Given the description of an element on the screen output the (x, y) to click on. 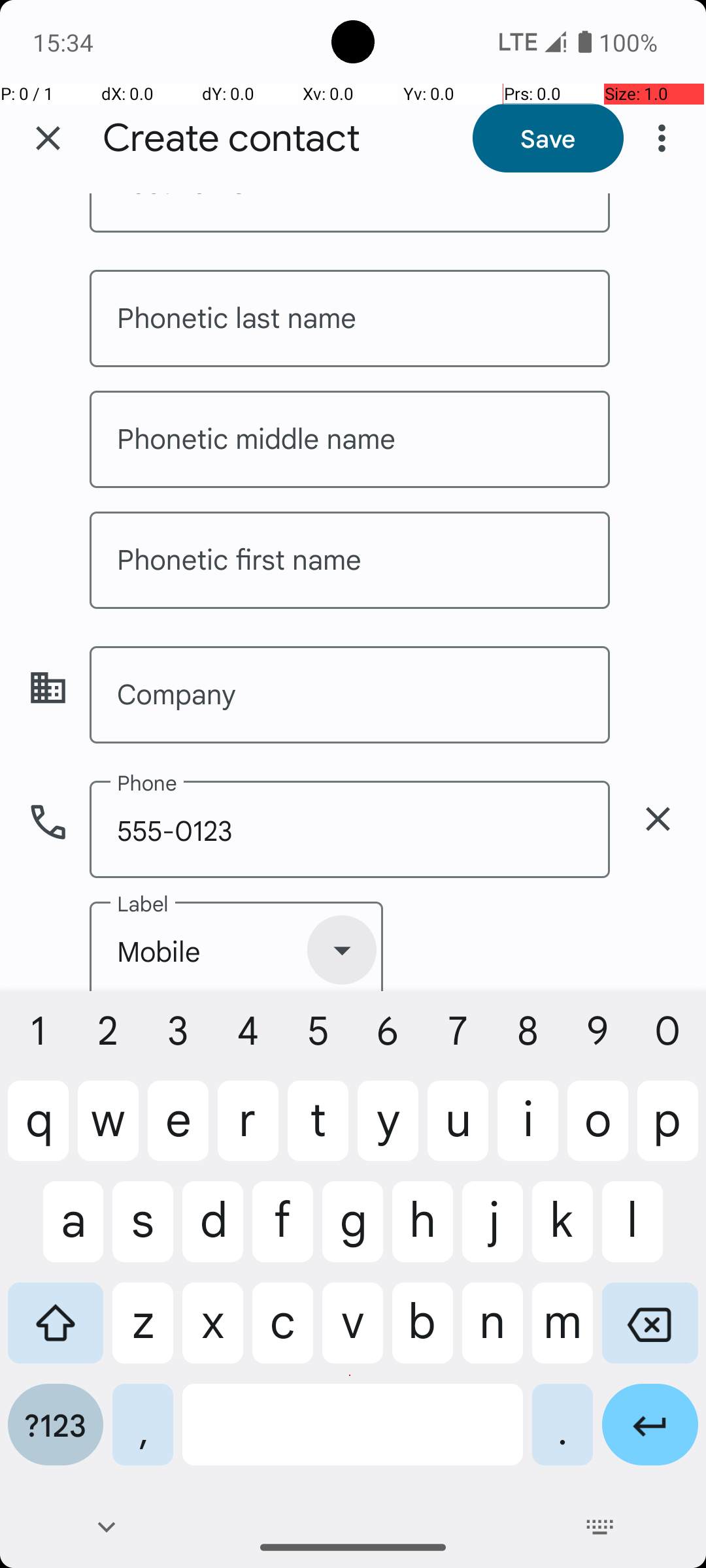
Phonetic last name Element type: android.widget.EditText (349, 318)
Phonetic middle name Element type: android.widget.EditText (349, 439)
Phonetic first name Element type: android.widget.EditText (349, 559)
555-0123 Element type: android.widget.EditText (349, 829)
Mobile Element type: android.widget.Spinner (236, 946)
Delete Mobile Phone Element type: android.widget.FrameLayout (657, 818)
delete Element type: android.widget.ImageView (657, 818)
